Given the description of an element on the screen output the (x, y) to click on. 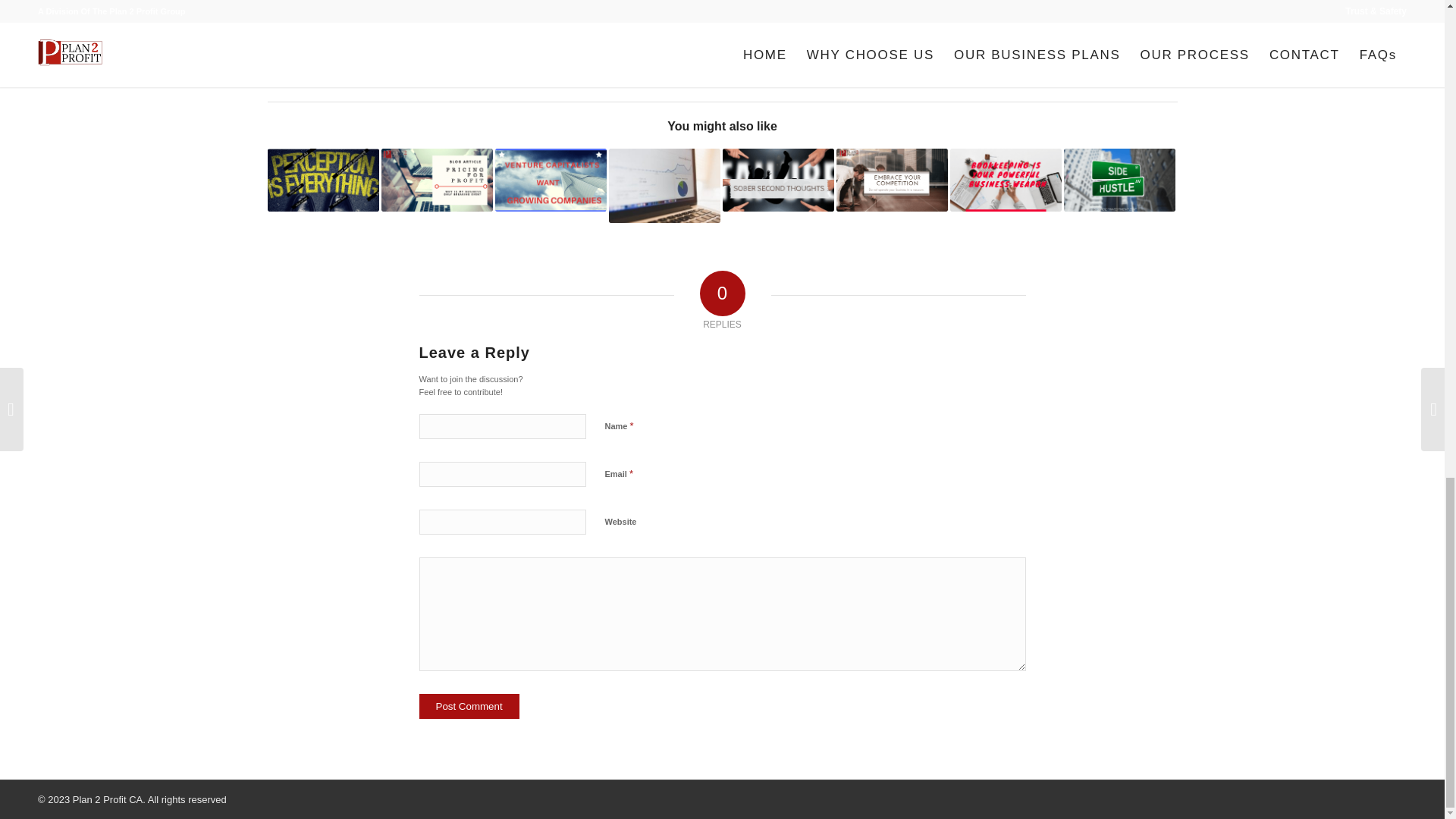
Post Comment (468, 706)
Post Comment (468, 706)
Perception Is Everything (322, 179)
